Given the description of an element on the screen output the (x, y) to click on. 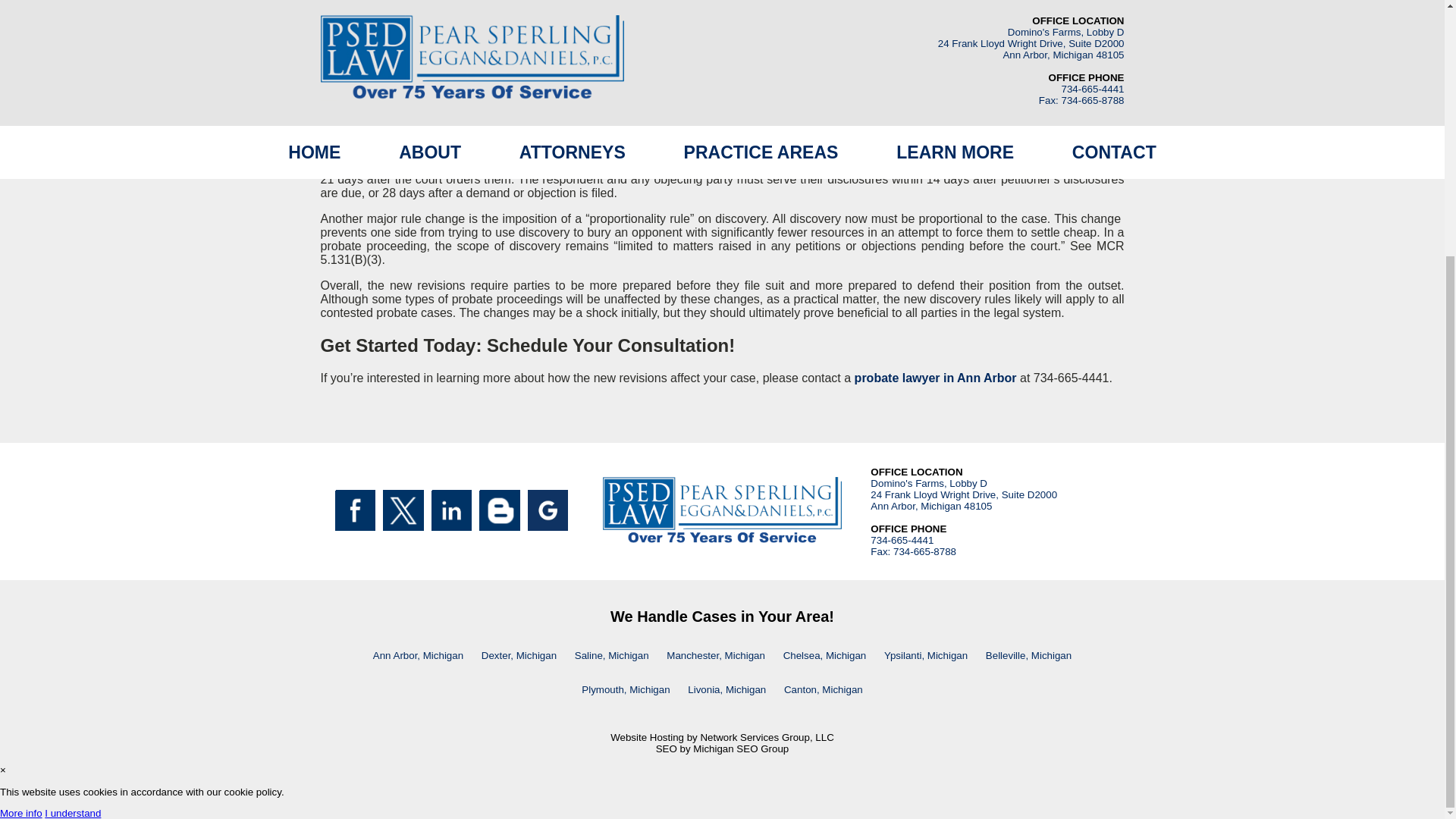
Saline, Michigan (611, 655)
Plymouth, Michigan (625, 689)
Ann Arbor, Michigan (417, 655)
Chelsea, Michigan (825, 655)
SEO by Michigan SEO Group (722, 748)
Canton, Michigan (823, 689)
Manchester, Michigan (716, 655)
Website Hosting by Network Services Group, LLC (722, 737)
Livonia, Michigan (726, 689)
Belleville, Michigan (1028, 655)
